Given the description of an element on the screen output the (x, y) to click on. 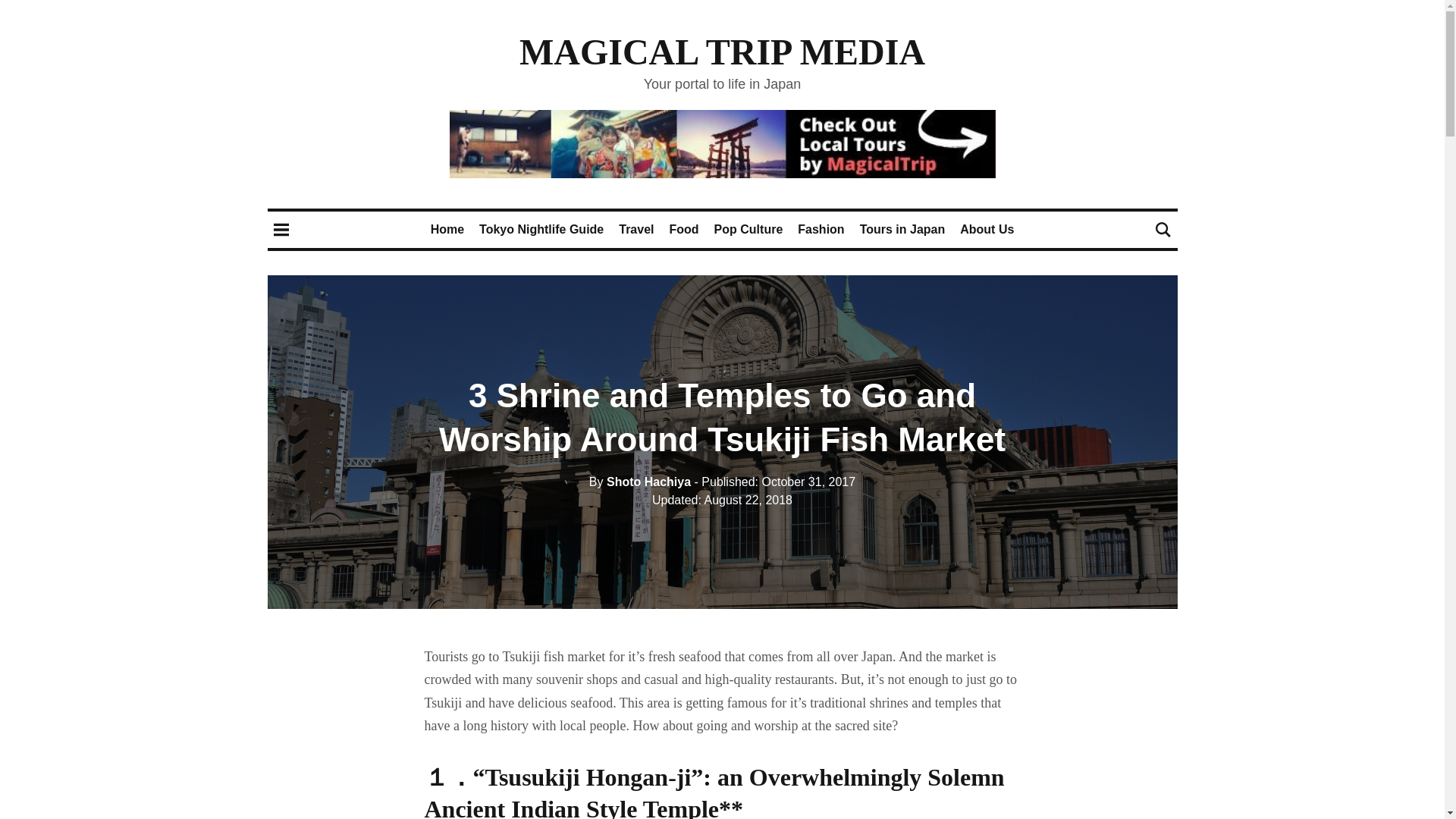
MAGICAL TRIP MEDIA (721, 51)
Home (447, 228)
Fashion (820, 228)
Food (683, 228)
About Us (986, 228)
Pop Culture (748, 228)
Travel (635, 228)
Tours in Japan (902, 228)
By Shoto Hachiya (639, 481)
Tokyo Nightlife Guide (541, 228)
